Given the description of an element on the screen output the (x, y) to click on. 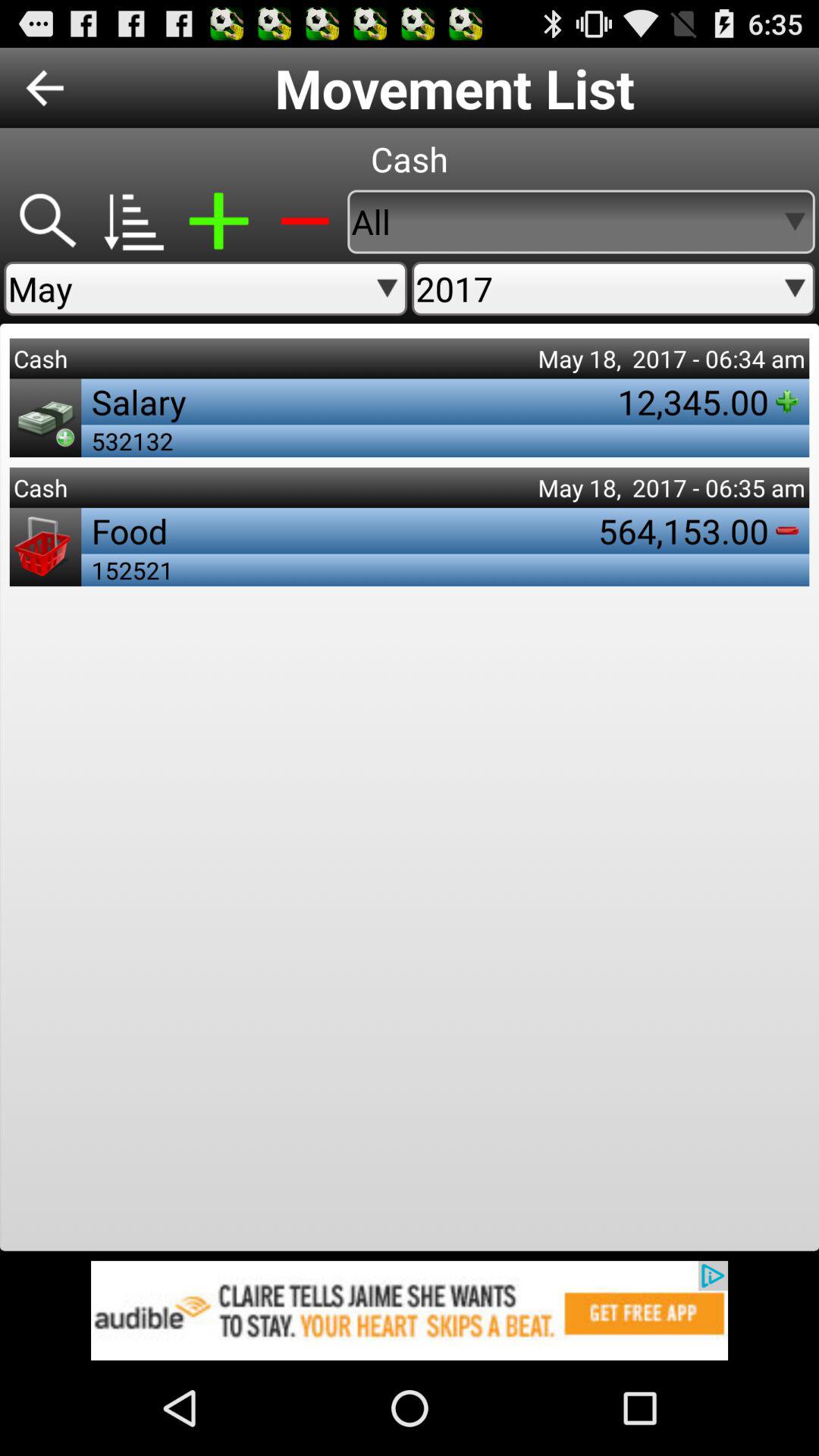
go back (44, 87)
